Given the description of an element on the screen output the (x, y) to click on. 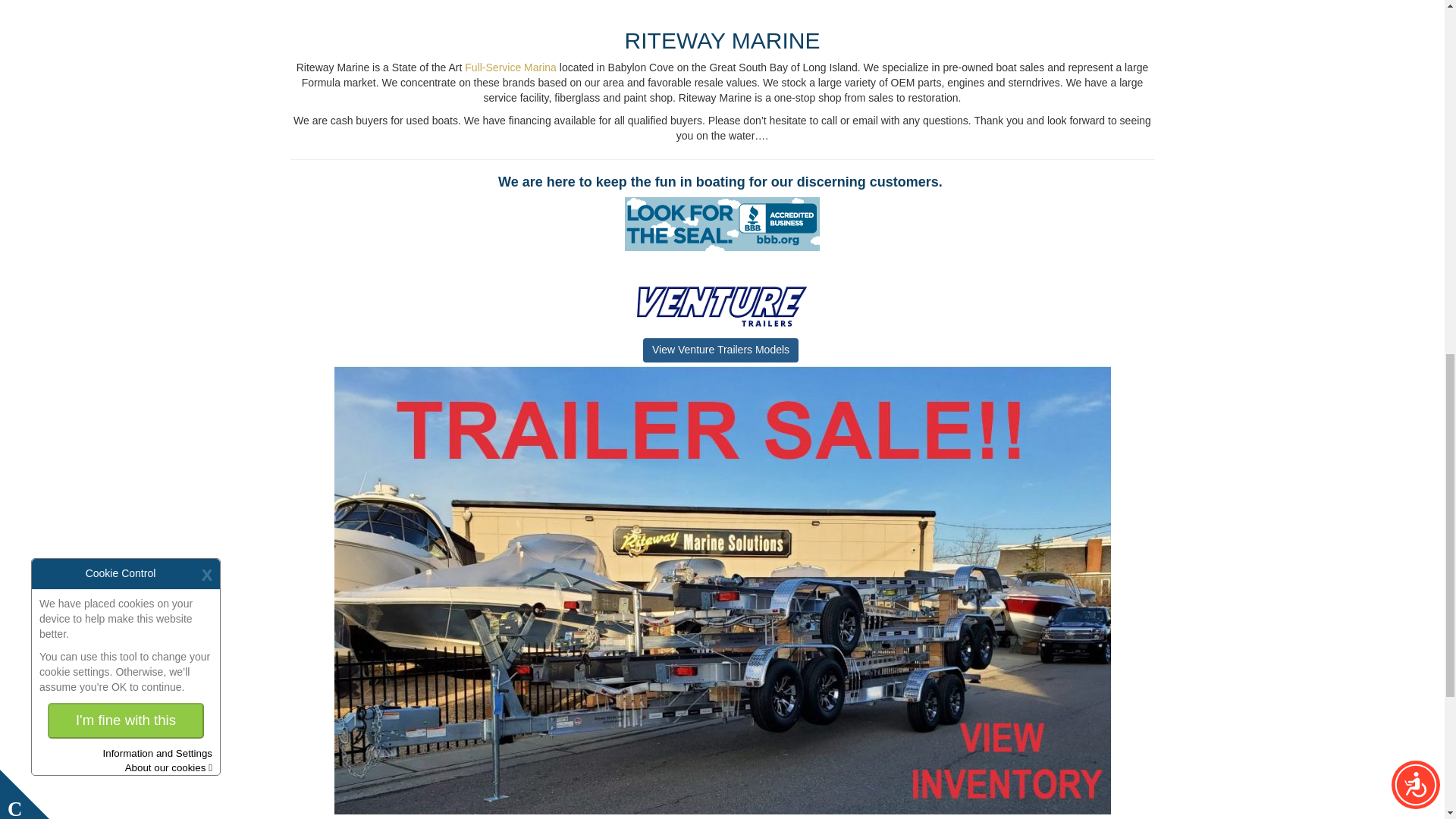
Full-Service Marina (510, 67)
